Given the description of an element on the screen output the (x, y) to click on. 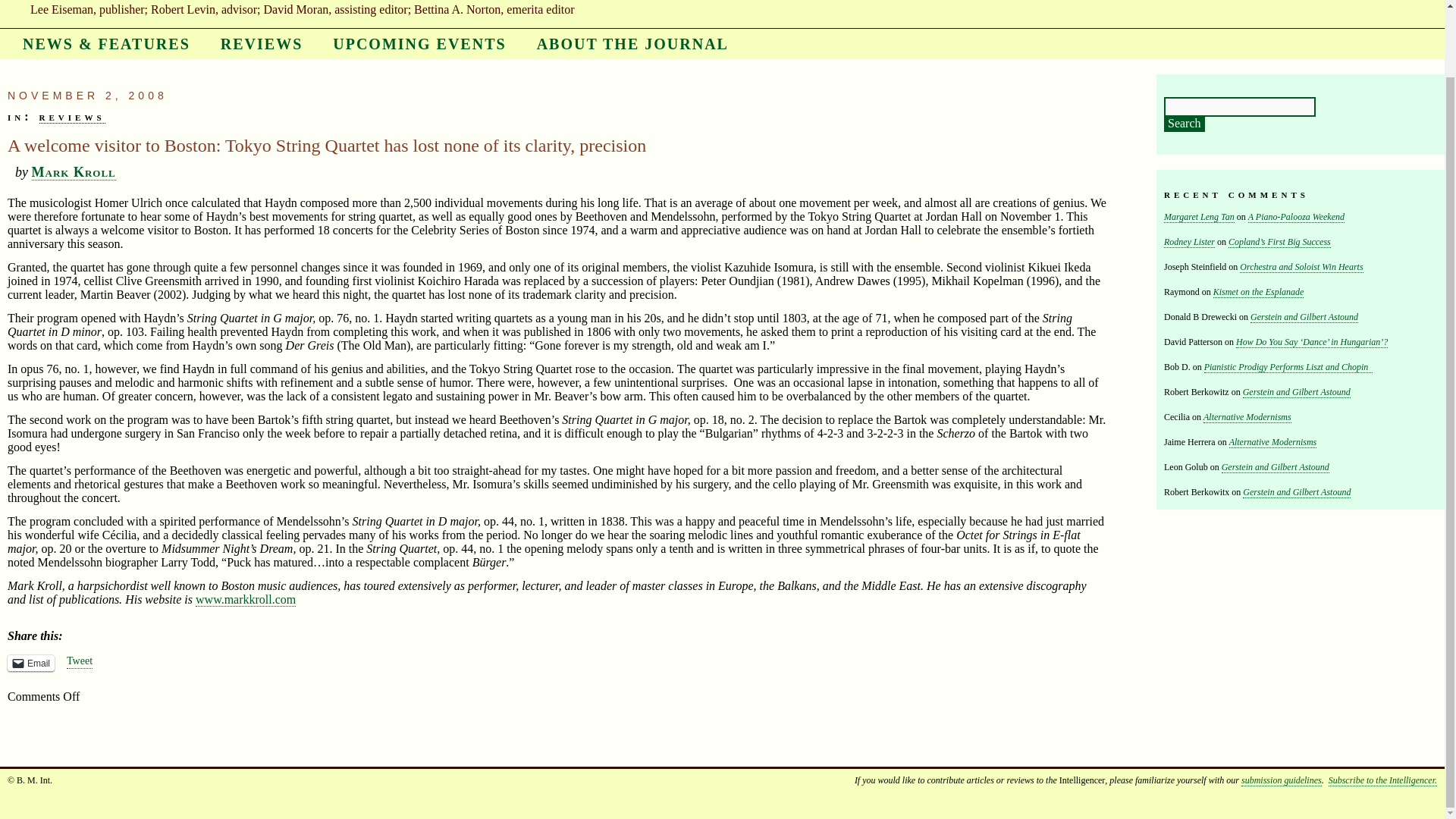
A Piano-Palooza Weekend (1295, 216)
submission guidelines (1281, 780)
Search for: (1239, 107)
Rodney Lister (1188, 242)
reviews (71, 116)
Orchestra and Soloist Win Hearts (1301, 266)
Email (31, 663)
Gerstein and Gilbert Astound (1304, 317)
Search (1184, 124)
Tweet (79, 662)
